Given the description of an element on the screen output the (x, y) to click on. 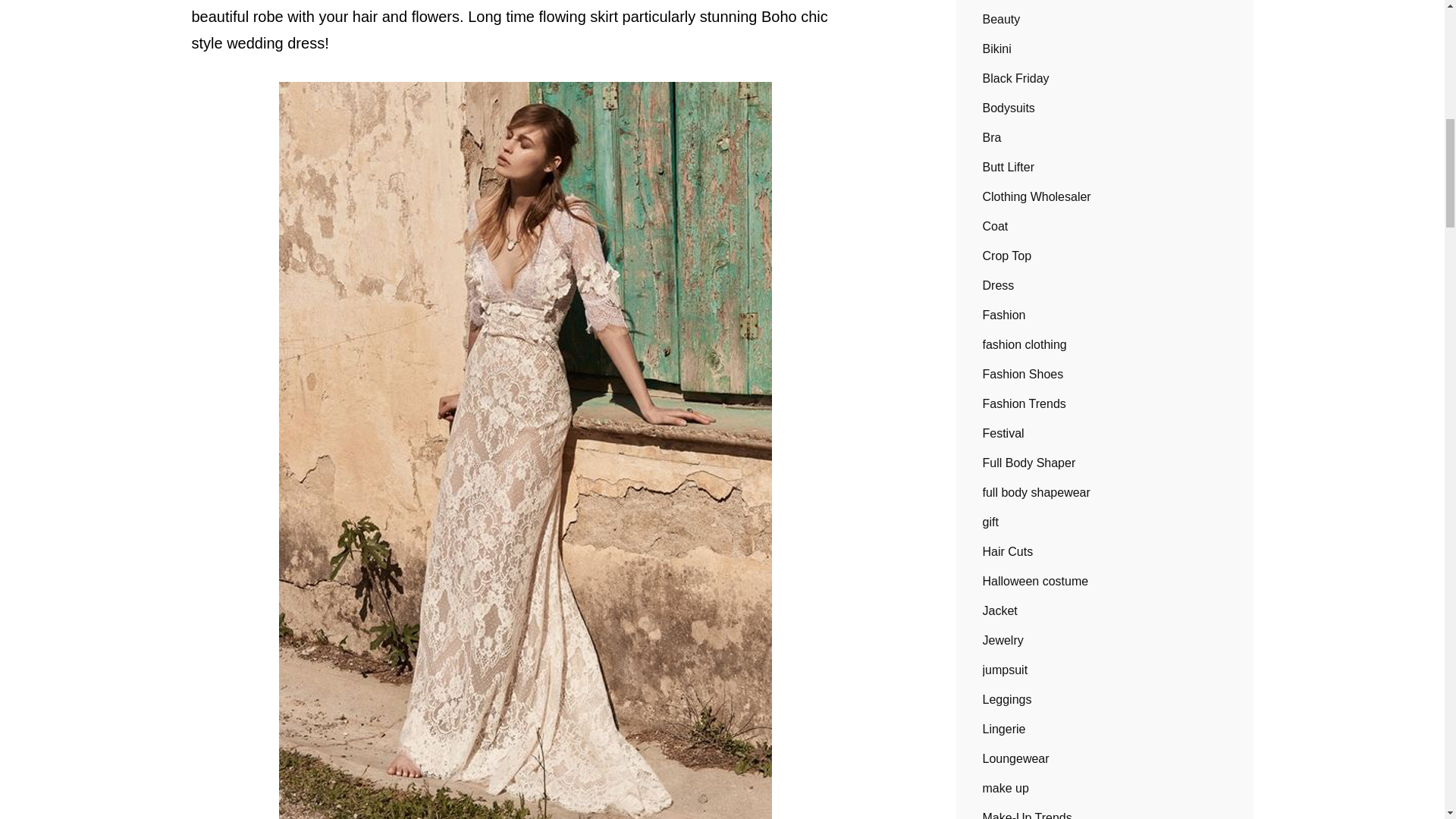
Festival (1003, 433)
Fashion Trends (1023, 404)
Fashion Shoes (1023, 374)
Halloween costume (1035, 581)
Hair Cuts (1007, 551)
Crop Top (1007, 256)
Jacket (999, 610)
Coat (995, 226)
Bodysuits (1008, 108)
Beauty (1001, 19)
Jewelry (1002, 640)
Bikini (996, 48)
Dress (998, 285)
full body shapewear (1036, 492)
Clothing Wholesaler (1036, 197)
